Given the description of an element on the screen output the (x, y) to click on. 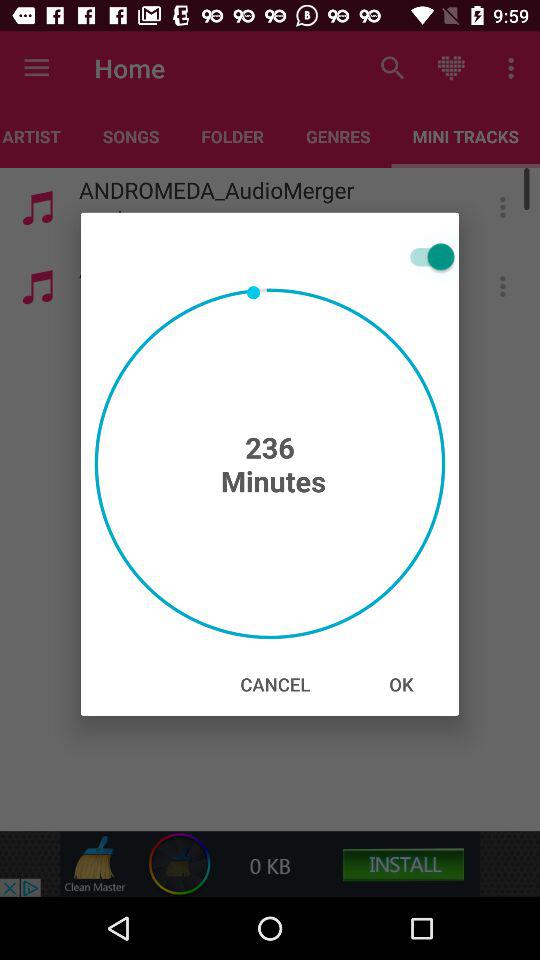
click icon next to the ok item (275, 683)
